Given the description of an element on the screen output the (x, y) to click on. 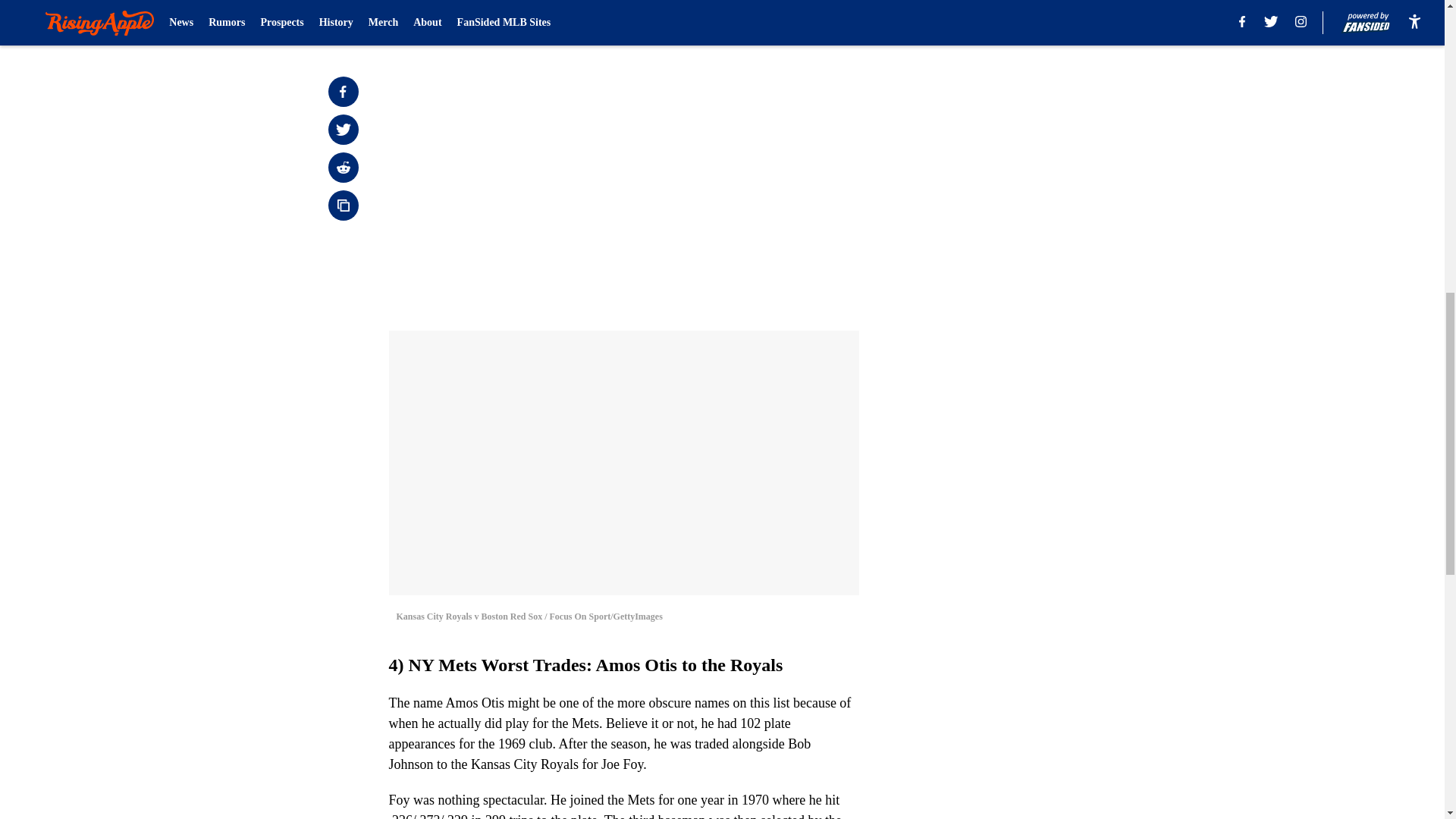
Prev (433, 20)
Next (813, 20)
